Given the description of an element on the screen output the (x, y) to click on. 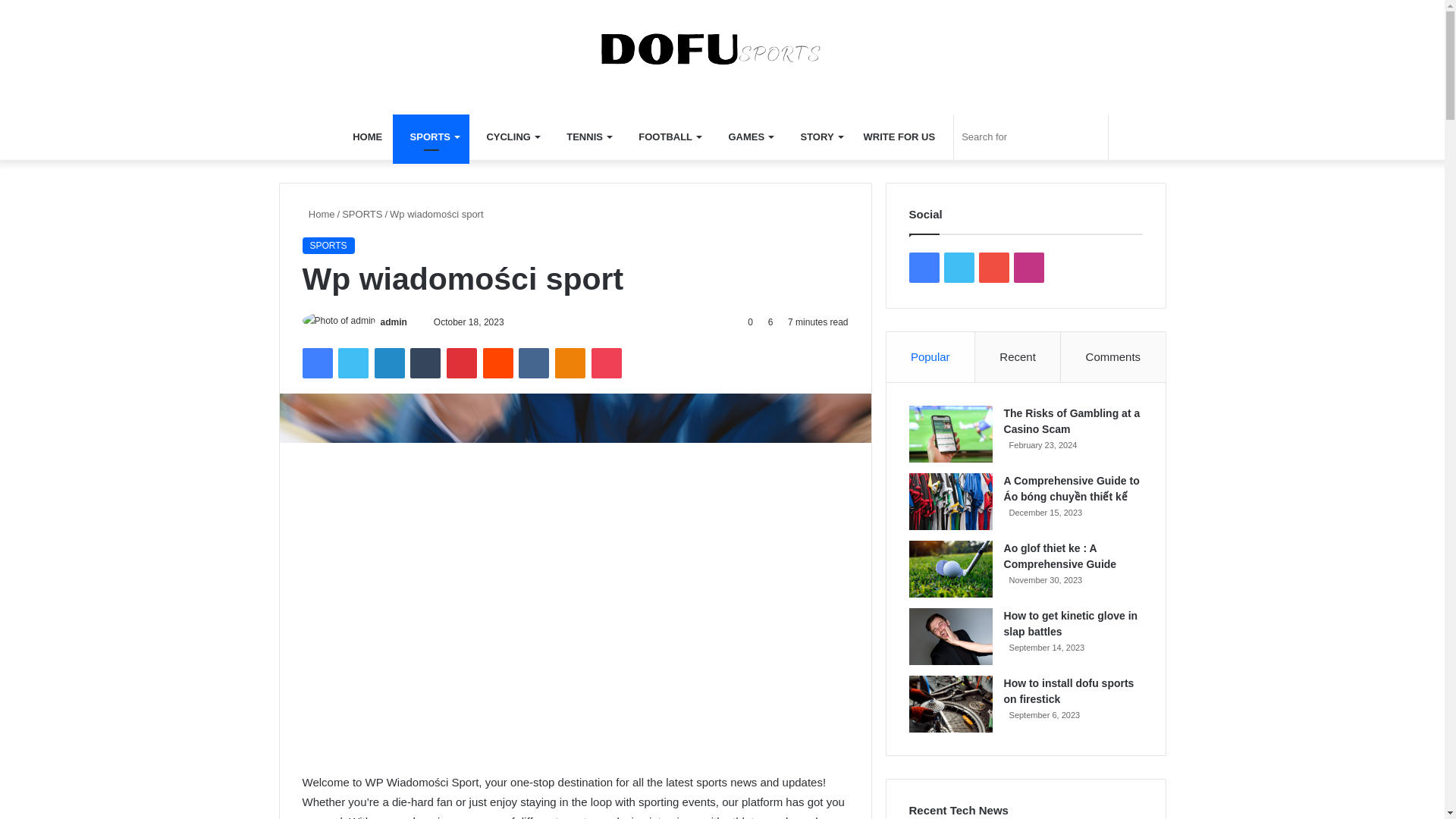
TENNIS (585, 136)
Twitter (352, 363)
WRITE FOR US (899, 136)
Facebook (316, 363)
LinkedIn (389, 363)
LinkedIn (389, 363)
VKontakte (533, 363)
Home (317, 214)
Dofusports (721, 48)
Facebook (316, 363)
